Given the description of an element on the screen output the (x, y) to click on. 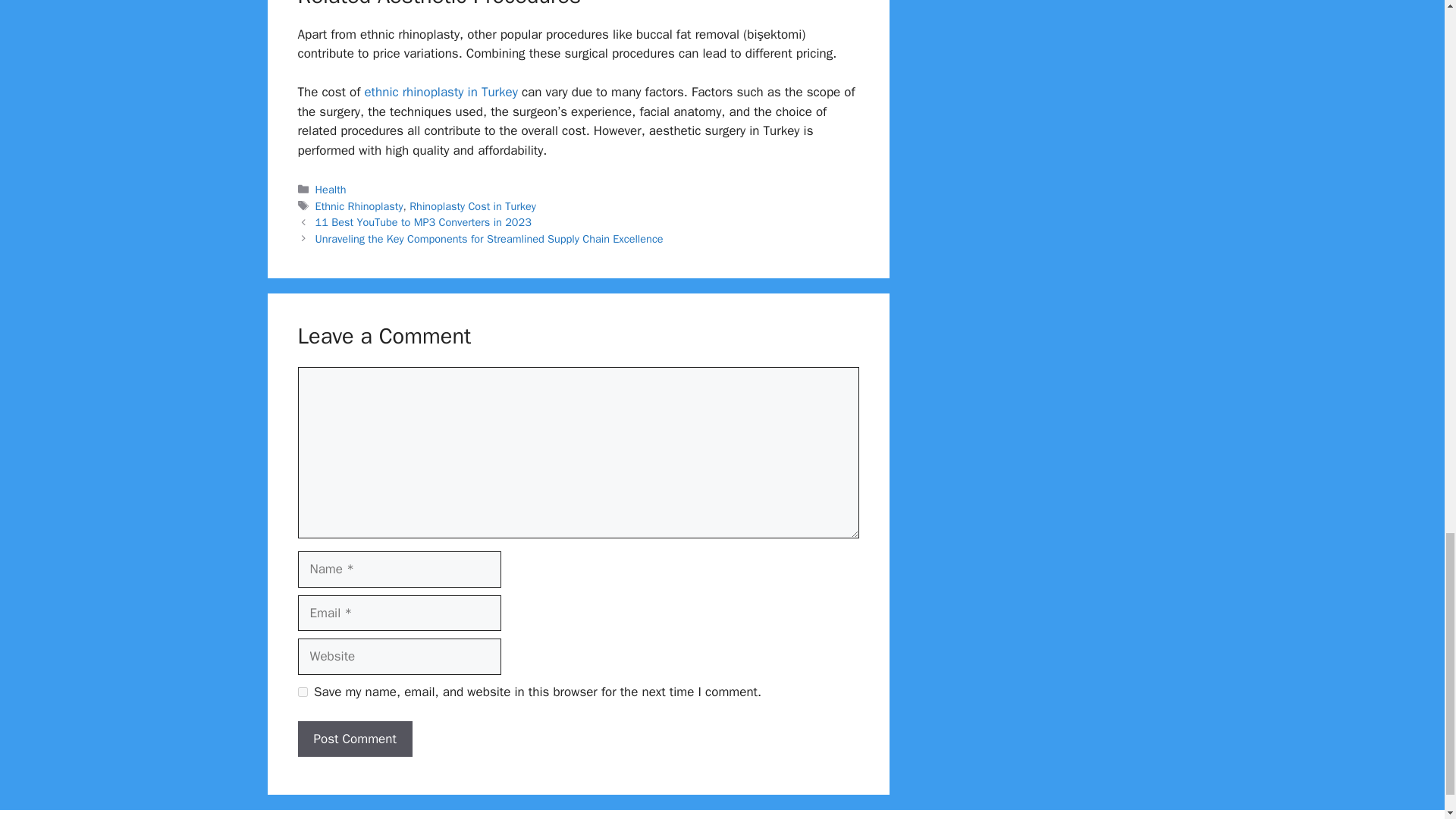
Post Comment (354, 739)
ethnic rhinoplasty in Turkey (437, 91)
Rhinoplasty Cost in Turkey (472, 205)
11 Best YouTube to MP3 Converters in 2023 (423, 222)
Ethnic Rhinoplasty (359, 205)
Post Comment (354, 739)
yes (302, 691)
Health (330, 189)
